Given the description of an element on the screen output the (x, y) to click on. 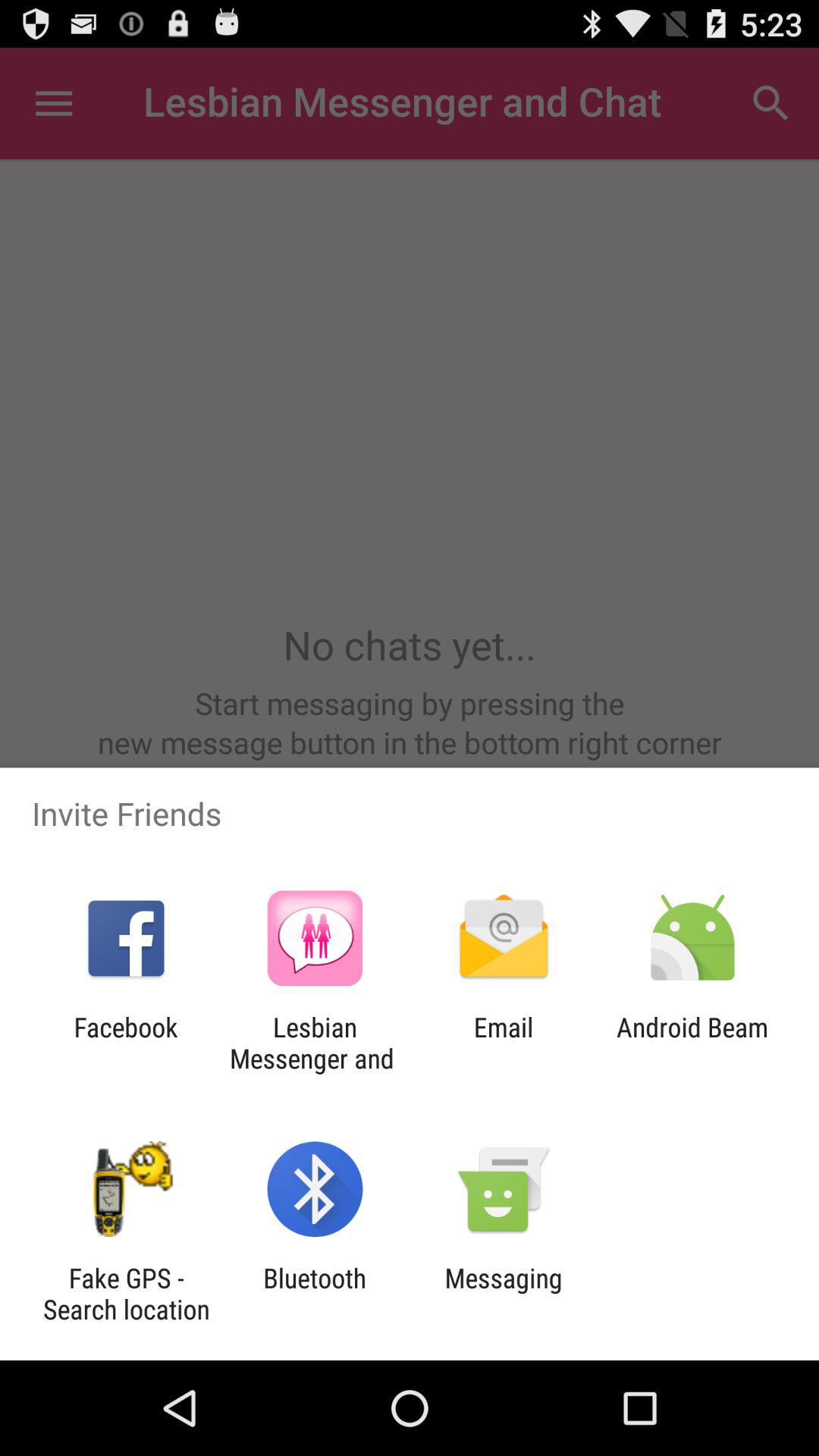
select item to the right of the bluetooth app (503, 1293)
